Given the description of an element on the screen output the (x, y) to click on. 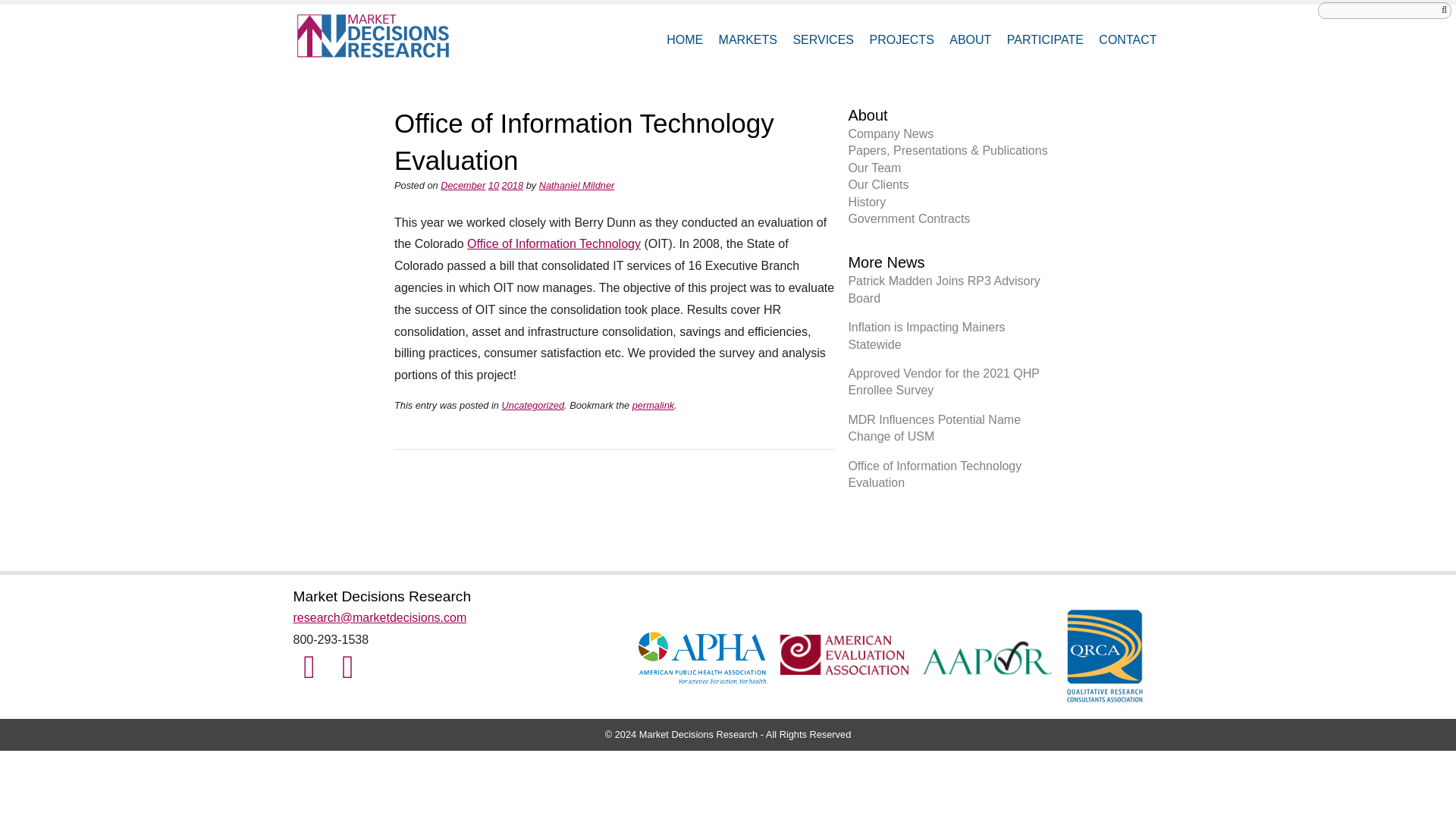
Permalink to Office of Information Technology Evaluation (652, 405)
View Archives for December 2018 (462, 184)
Market Decisions Research (378, 35)
View Archives for December 10 2018 (493, 184)
View all posts by Nathaniel Mildner (576, 184)
View Archives for 2018 (512, 184)
